Given the description of an element on the screen output the (x, y) to click on. 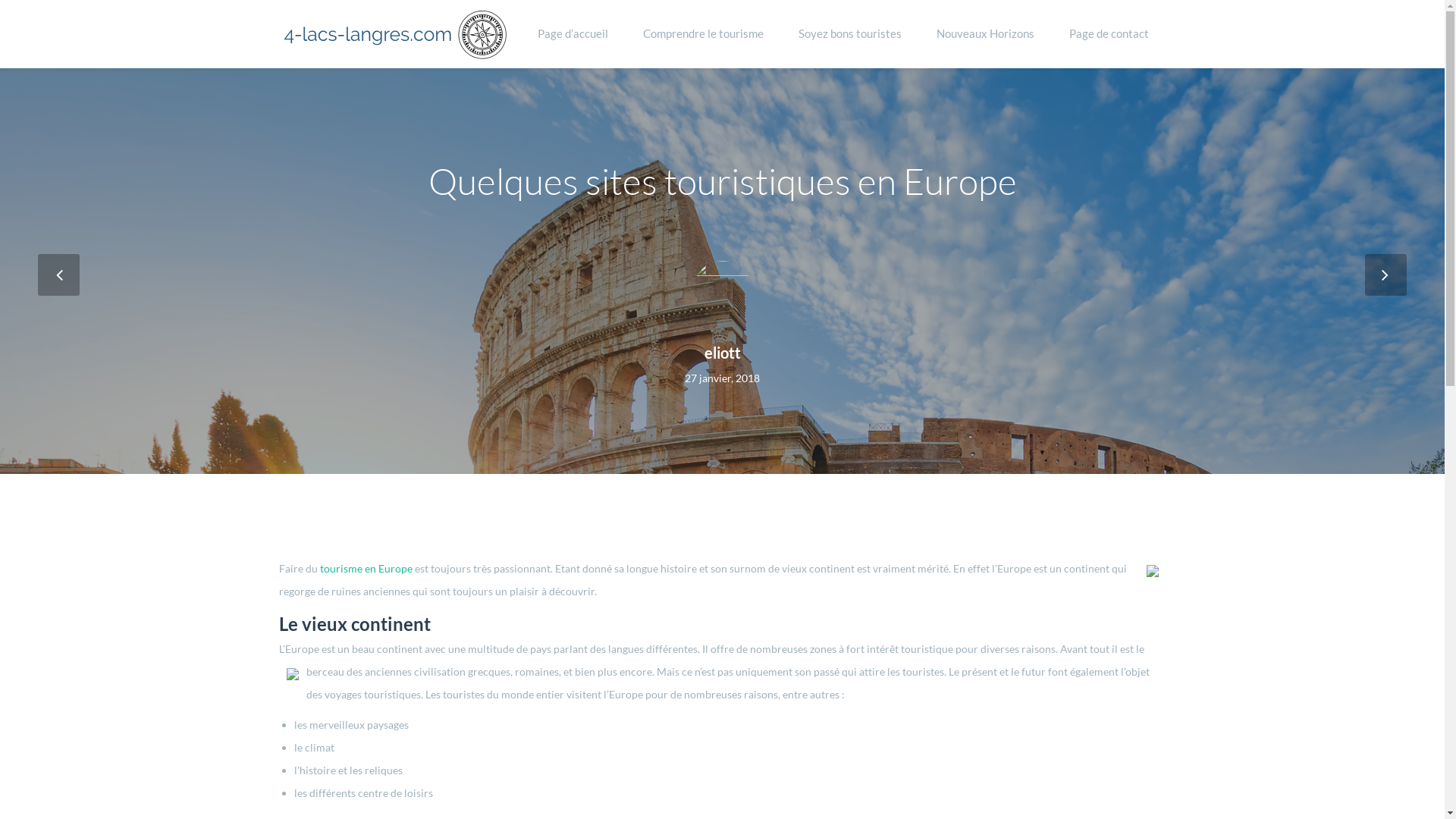
Comprendre le tourisme Element type: text (702, 34)
Page de contact Element type: text (1108, 34)
Nouveaux Horizons Element type: text (985, 34)
tourisme en Europe Element type: text (366, 567)
eliott Element type: text (721, 352)
4-lacs-langres.com Element type: hover (392, 34)
Soyez bons touristes Element type: text (850, 34)
